Given the description of an element on the screen output the (x, y) to click on. 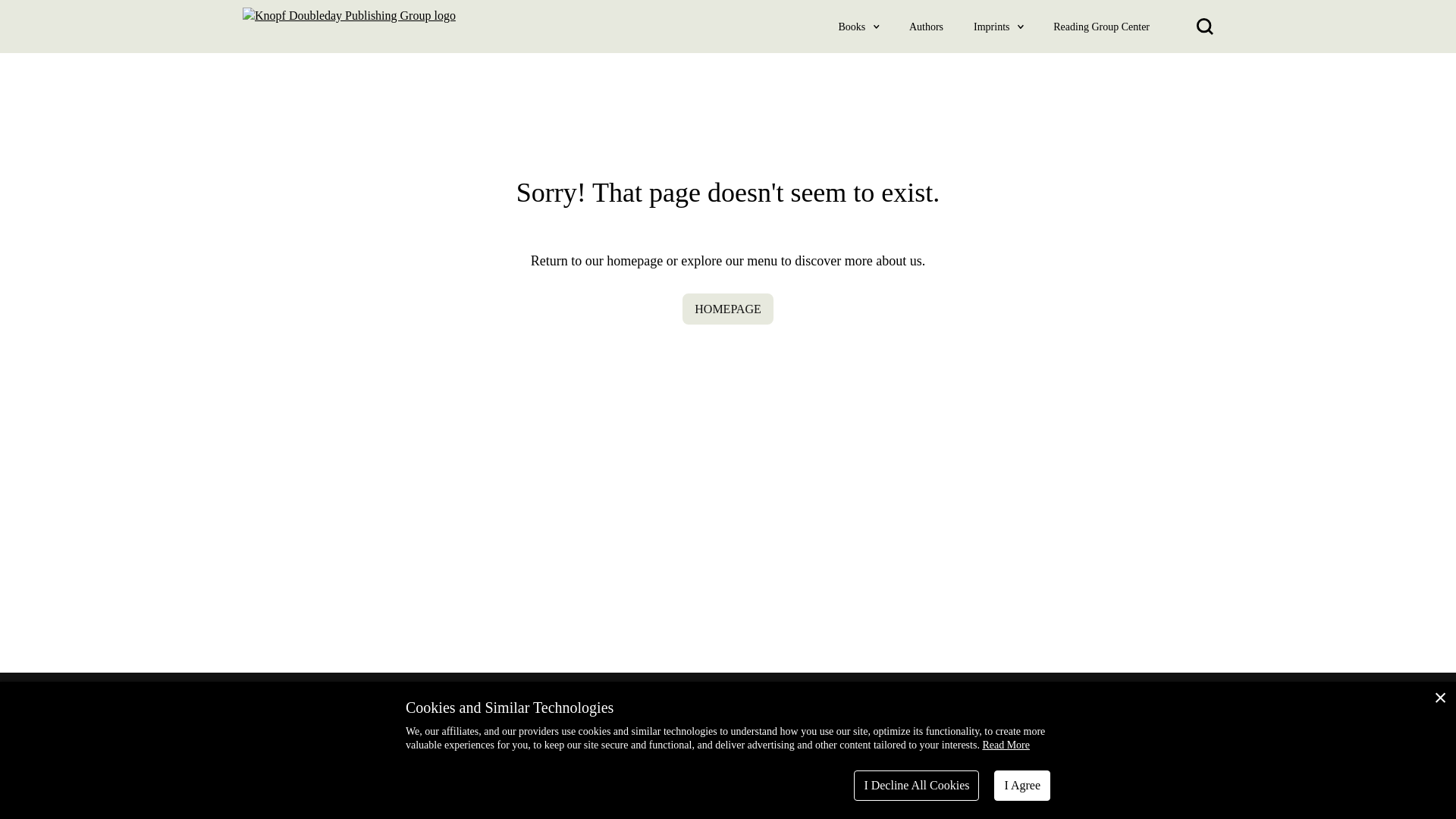
Reading Group Center (1101, 26)
Imprints (992, 26)
Books (852, 26)
Authors (925, 26)
HOMEPAGE (727, 308)
